Given the description of an element on the screen output the (x, y) to click on. 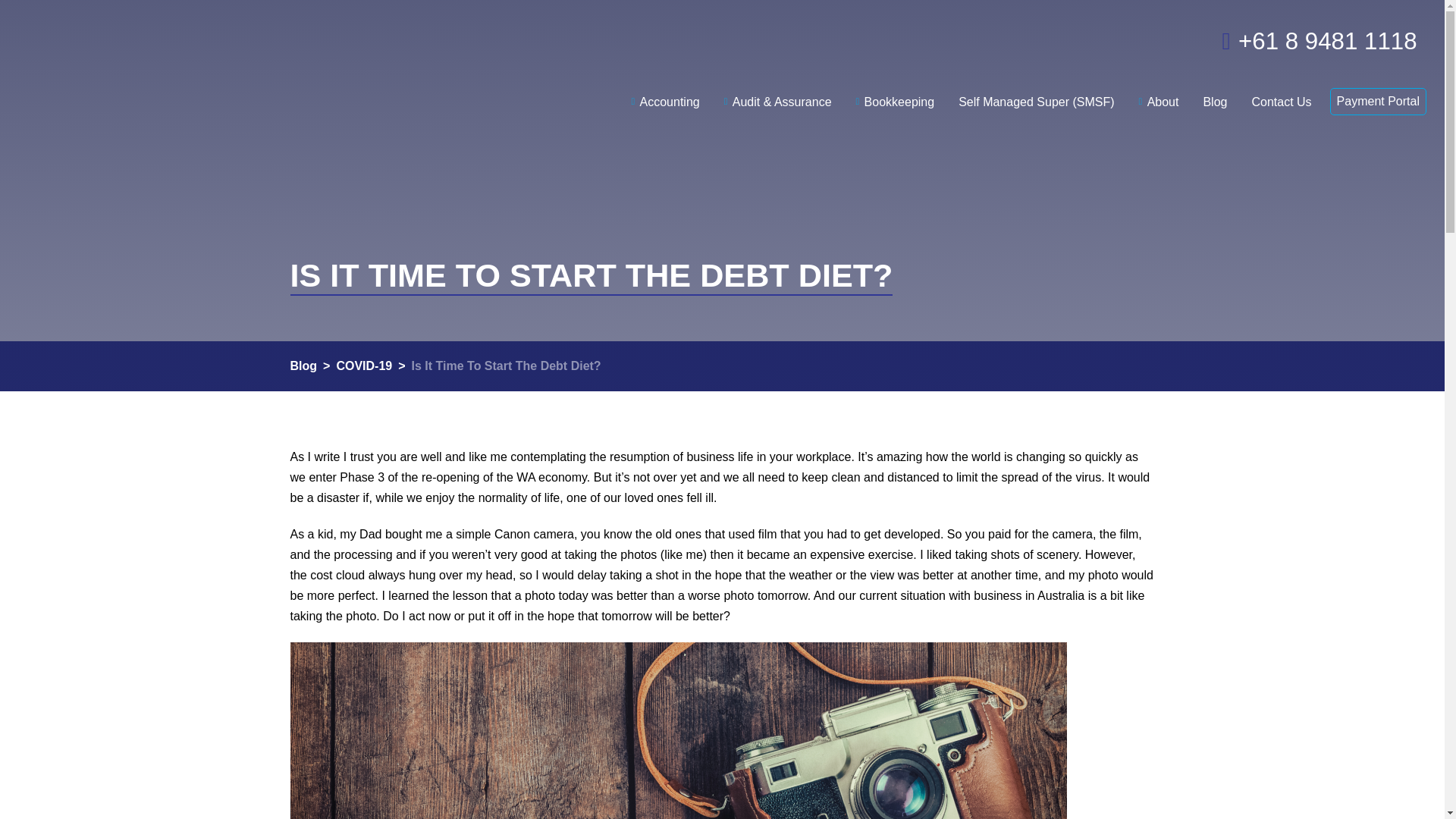
Accounting Element type: text (664, 90)
COVID-19 Element type: text (363, 365)
Contact Us Element type: text (1281, 90)
Payment Portal Element type: text (1378, 101)
Self Managed Super (SMSF) Element type: text (1036, 90)
Blog Element type: text (302, 365)
About Element type: text (1158, 90)
Bookkeeping Element type: text (895, 90)
Dry Kirkness Element type: text (182, 60)
Blog Element type: text (1214, 90)
+61 8 9481 1118 Element type: text (1297, 38)
Audit & Assurance Element type: text (778, 90)
